Given the description of an element on the screen output the (x, y) to click on. 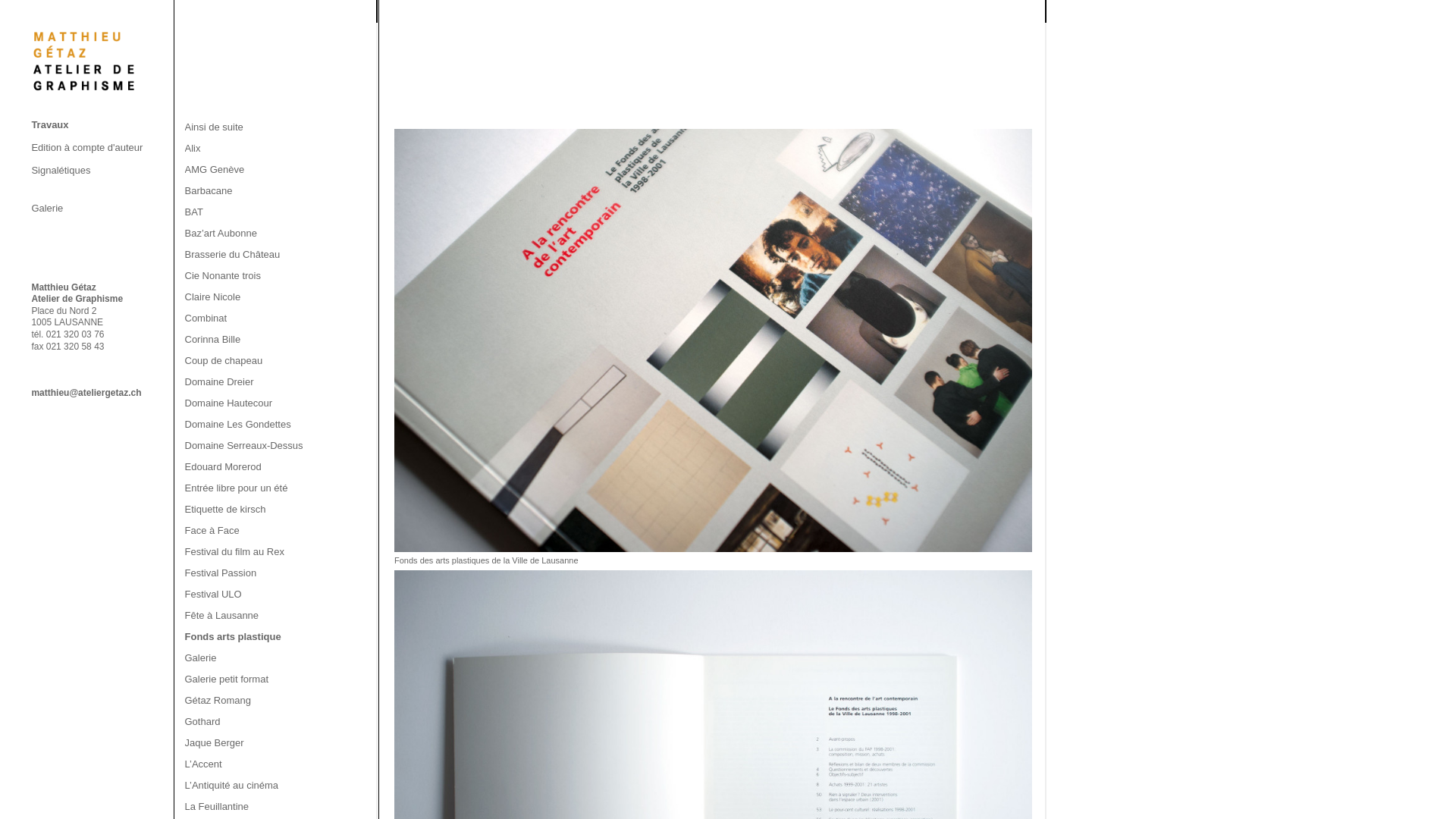
Domaine Les Gondettes Element type: text (238, 423)
Edouard Morerod Element type: text (223, 466)
Gothard Element type: text (202, 721)
Corinna Bille Element type: text (213, 339)
matthieu@ateliergetaz.ch Element type: text (86, 392)
Jaque Berger Element type: text (214, 742)
La Feuillantine Element type: text (217, 806)
Cie Nonante trois Element type: text (222, 275)
Coup de chapeau Element type: text (224, 360)
Claire Nicole Element type: text (213, 296)
Etiquette de kirsch Element type: text (225, 508)
Festival ULO Element type: text (213, 593)
Galerie Element type: text (100, 200)
Combinat Element type: text (206, 317)
Festival Passion Element type: text (221, 572)
Travaux Element type: text (100, 124)
Fonds arts plastique Element type: text (233, 636)
Domaine Hautecour Element type: text (229, 402)
Domaine Serreaux-Dessus Element type: text (244, 445)
Ainsi de suite Element type: text (214, 126)
Domaine Dreier Element type: text (219, 381)
BAT Element type: text (194, 211)
Festival du film au Rex Element type: text (235, 551)
Galerie petit format Element type: text (227, 678)
Galerie Element type: text (200, 657)
Barbacane Element type: text (208, 190)
Alix Element type: text (192, 147)
